Given the description of an element on the screen output the (x, y) to click on. 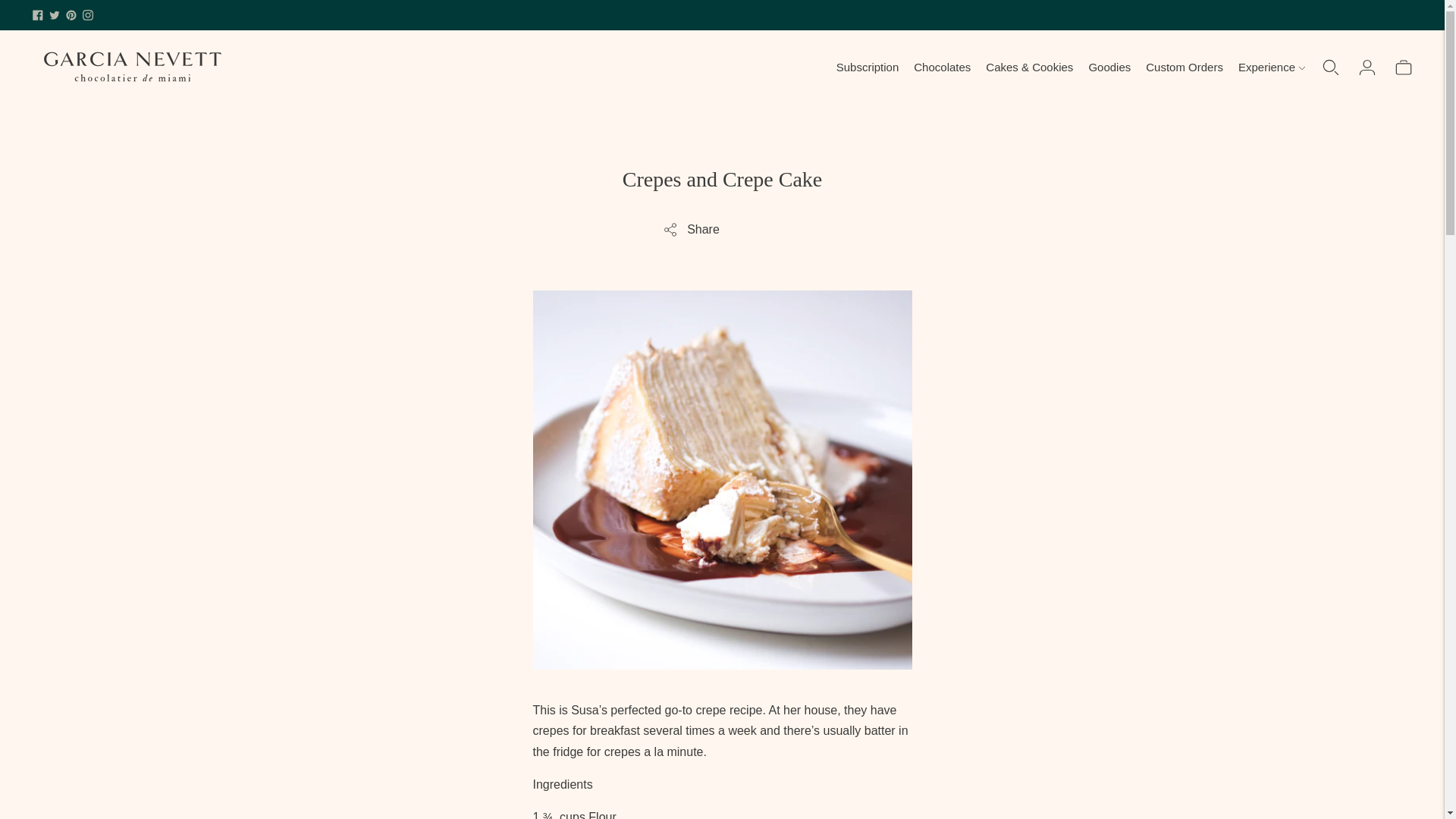
Custom Orders (1184, 67)
Garcia Nevett Chocolatier de Miami on Pinterest (71, 14)
Chocolates (942, 67)
Garcia Nevett Chocolatier de Miami on Facebook (37, 14)
Experience (1271, 67)
Subscription (867, 67)
Garcia Nevett Chocolatier de Miami on Instagram (87, 14)
Garcia Nevett Chocolatier de Miami on Twitter (54, 14)
Goodies (1109, 67)
